Given the description of an element on the screen output the (x, y) to click on. 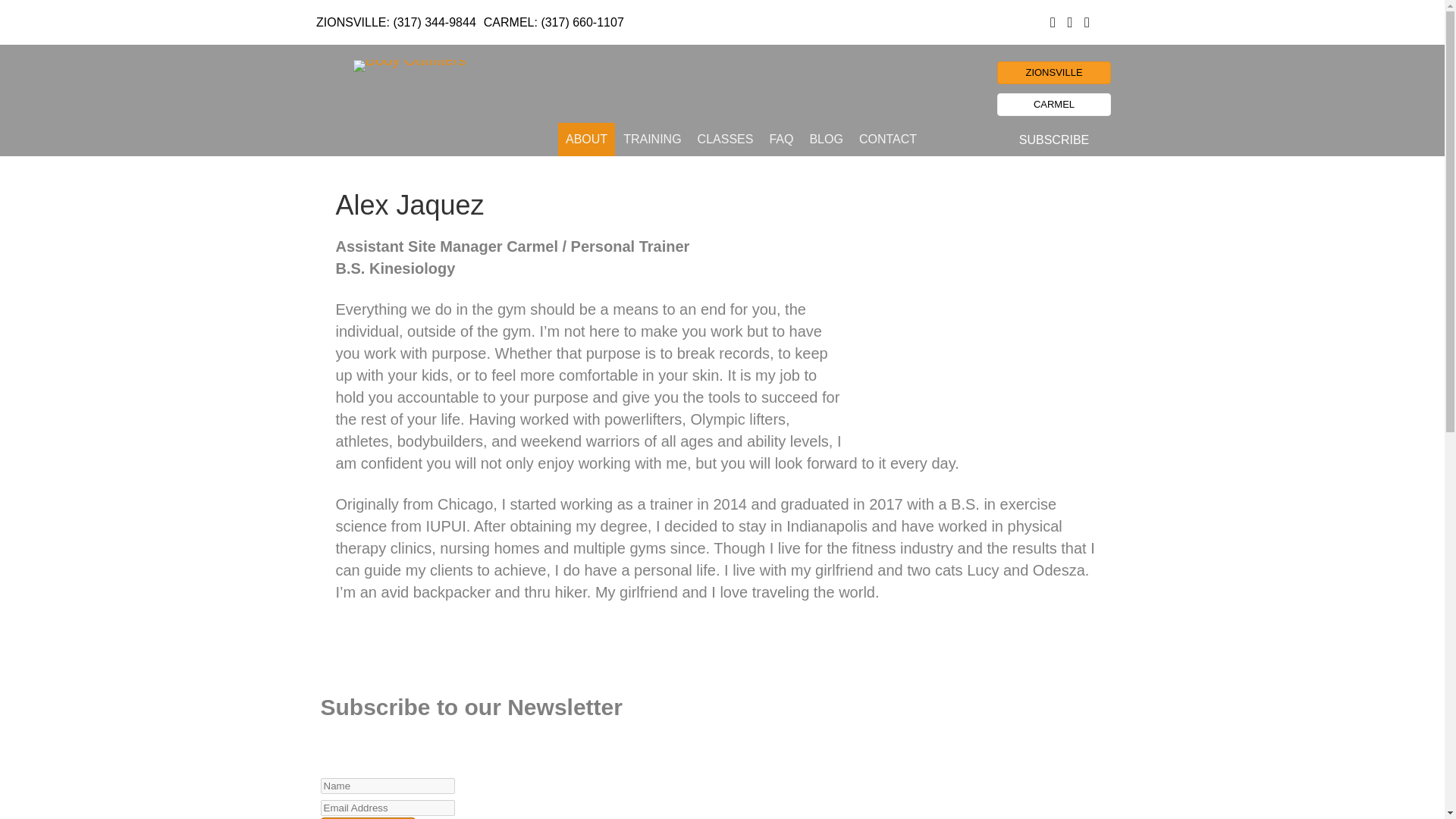
BLOG (826, 139)
ZIONSVILLE (1053, 72)
Subscribe! (367, 818)
SUBSCRIBE (1053, 139)
ABOUT (585, 139)
CARMEL (1053, 104)
Body Outfitters (409, 65)
TRAINING (651, 139)
CLASSES (725, 139)
CONTACT (887, 139)
FAQ (780, 139)
